Given the description of an element on the screen output the (x, y) to click on. 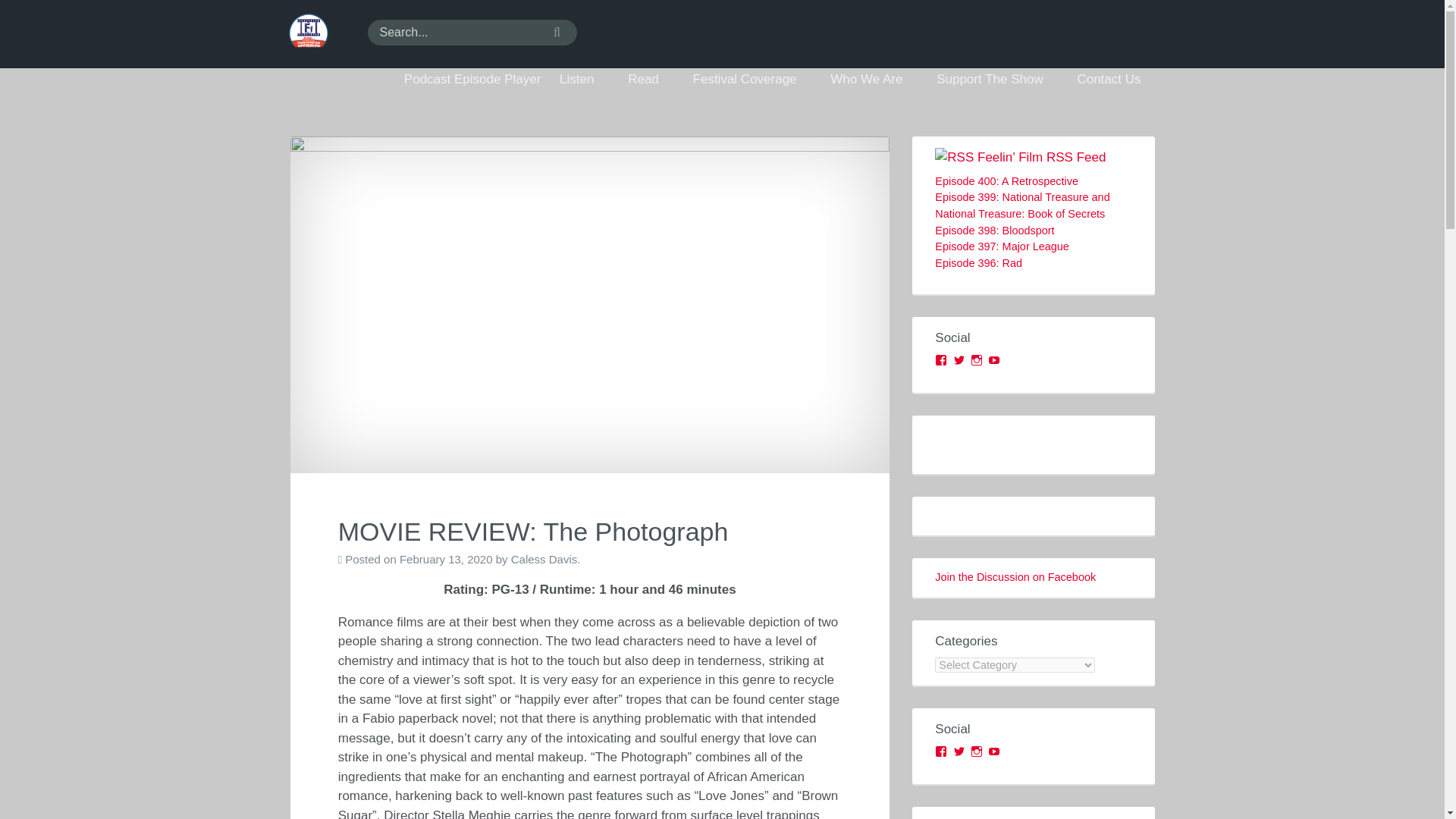
Search for: (471, 32)
Festival Coverage (752, 79)
Who We Are (873, 79)
Read (650, 79)
Listen (583, 79)
Podcast Episode Player (472, 79)
